Given the description of an element on the screen output the (x, y) to click on. 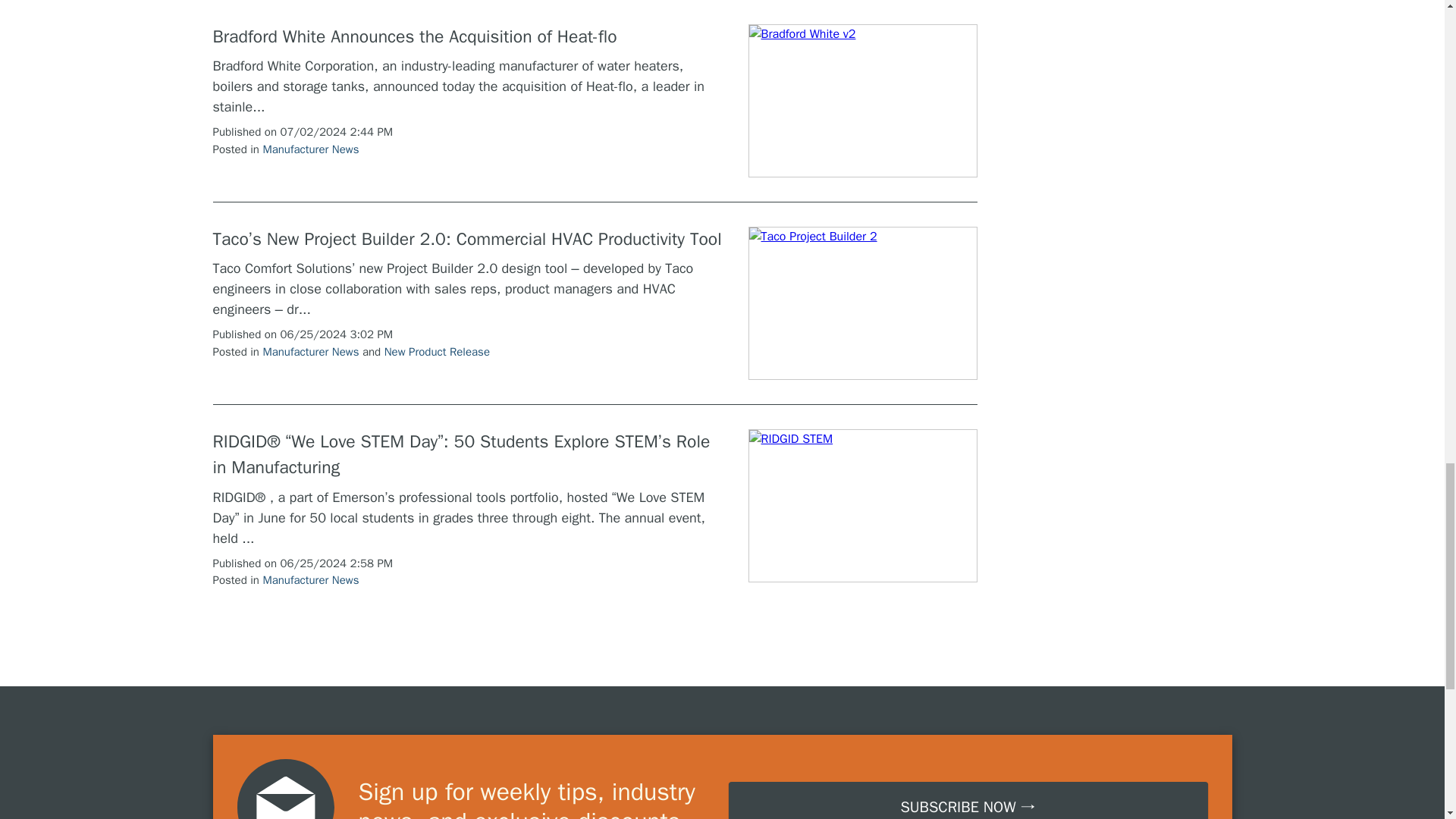
Manufacturer News (310, 351)
Manufacturer News (310, 149)
Manufacturer News (310, 580)
New Product Release (436, 351)
